Given the description of an element on the screen output the (x, y) to click on. 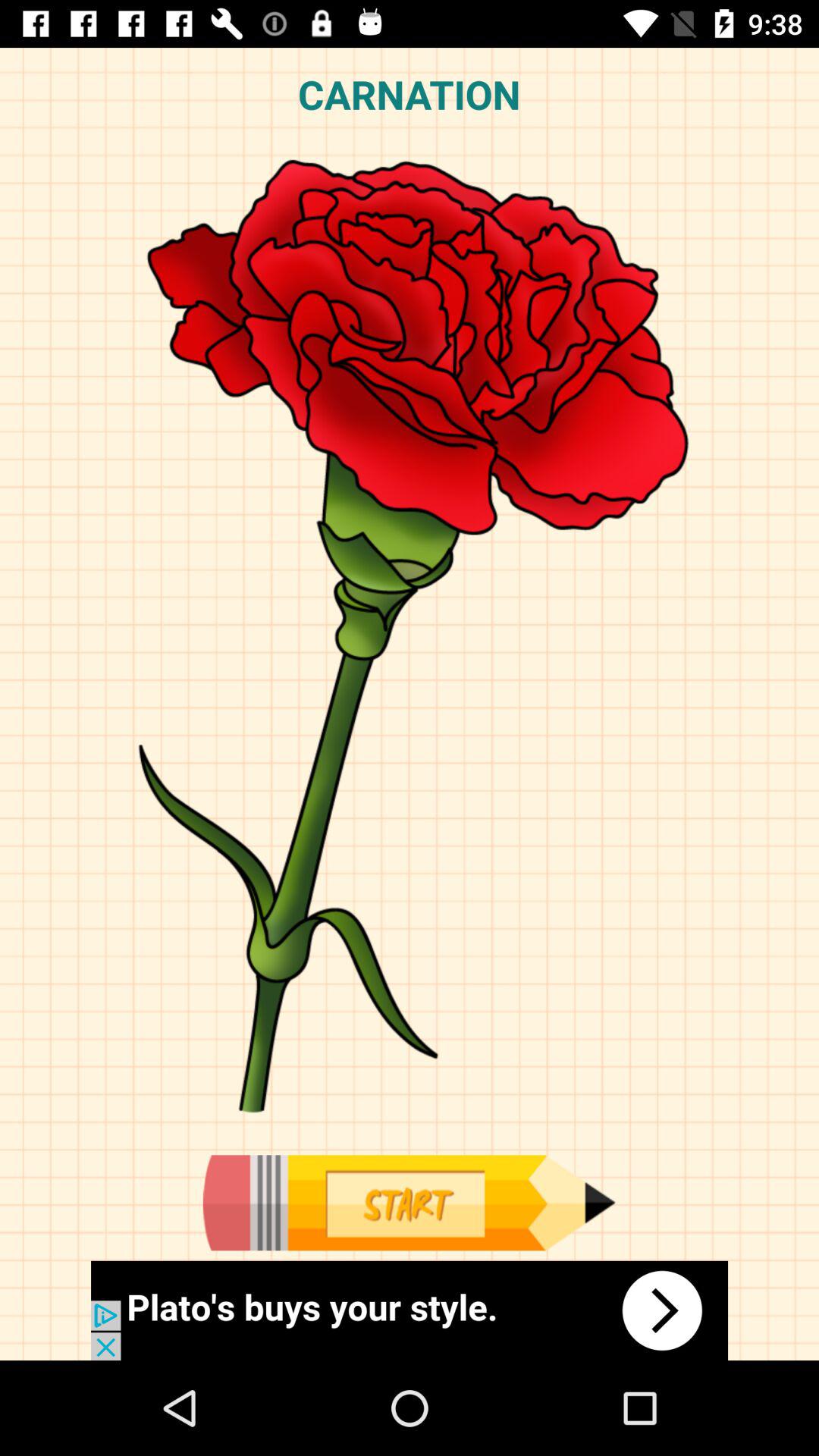
start drawing (409, 1202)
